Given the description of an element on the screen output the (x, y) to click on. 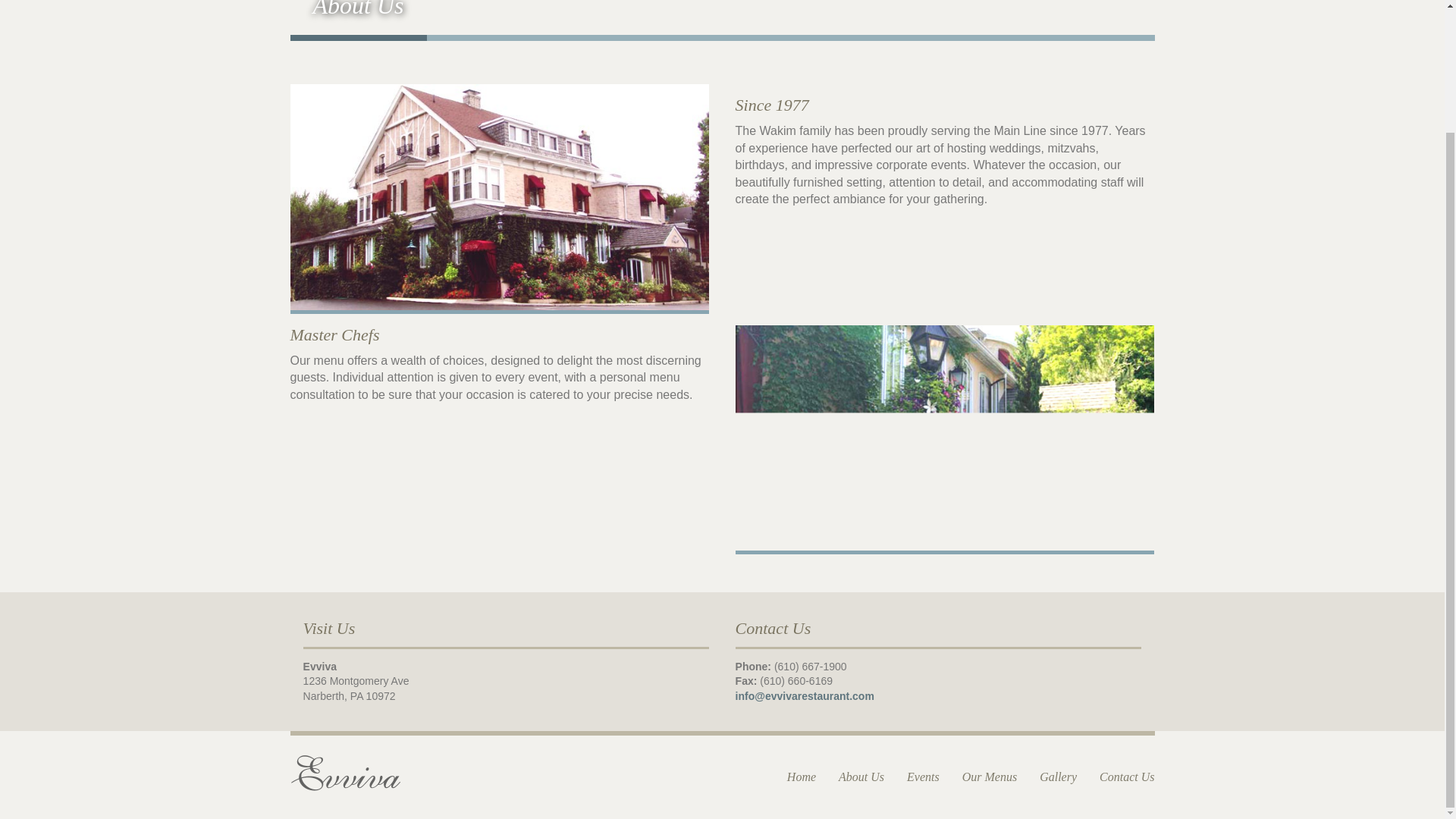
About Us (860, 776)
Gallery (1058, 776)
sample-image2 (944, 440)
sample-image1 (499, 198)
Events (923, 776)
Our Menus (989, 776)
Contact Us (1126, 776)
Home (801, 776)
